Given the description of an element on the screen output the (x, y) to click on. 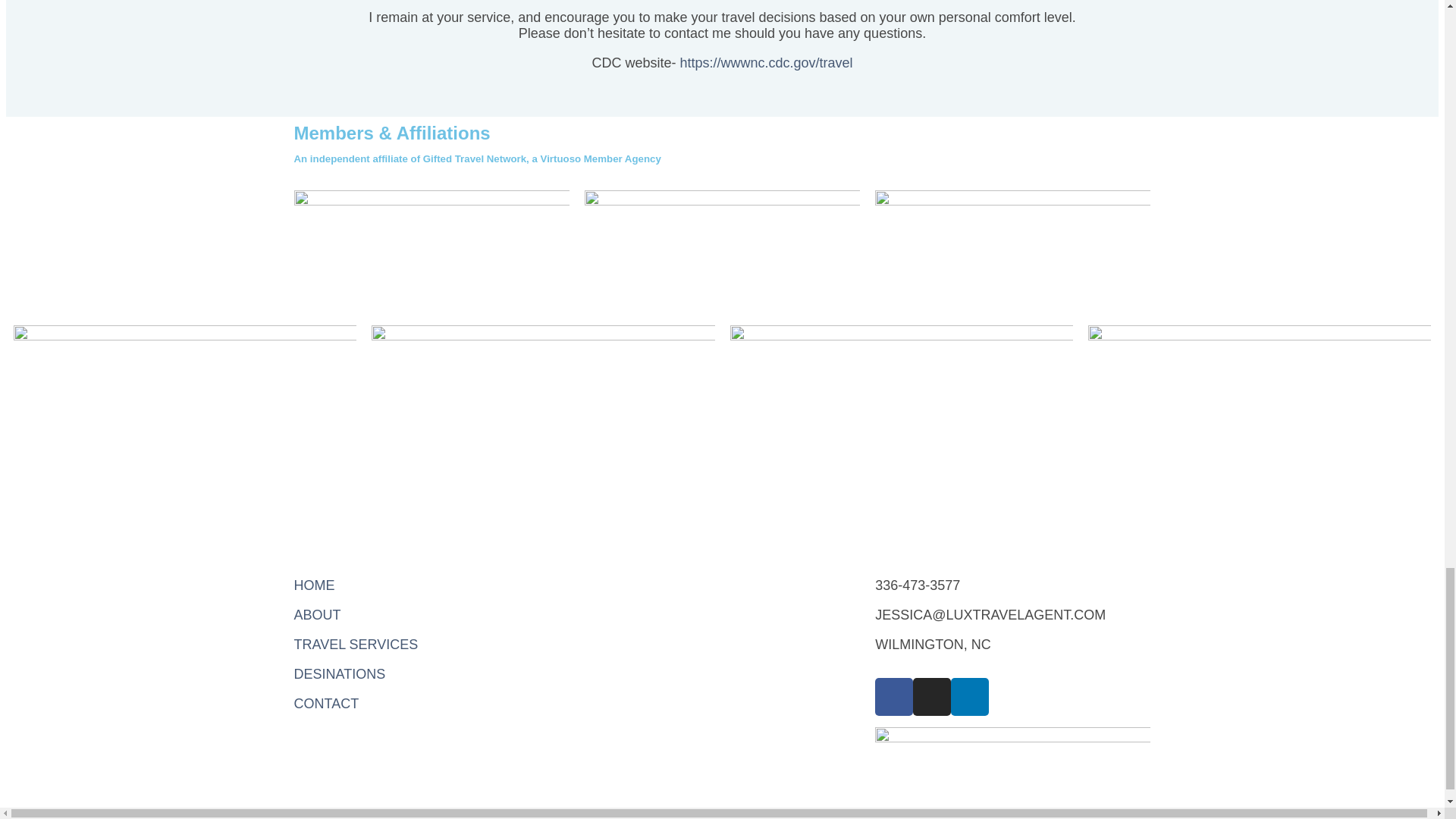
ABOUT (317, 614)
DESINATIONS (339, 673)
CONTACT (326, 703)
HOME (314, 585)
TRAVEL SERVICES (356, 644)
